Given the description of an element on the screen output the (x, y) to click on. 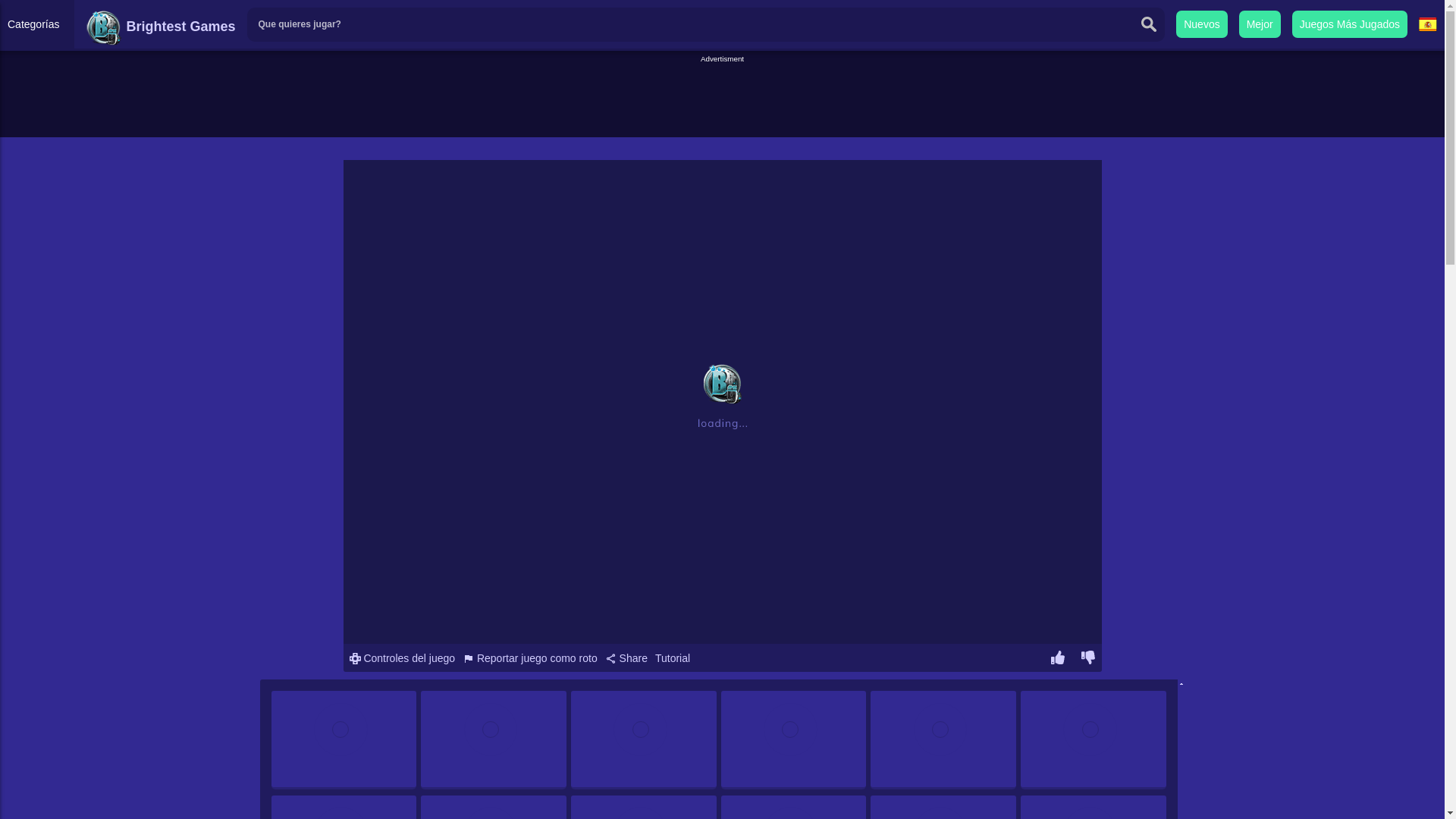
Play Free Online Games - BrightestGames.com (159, 26)
Brightest Games (159, 26)
Nuevos (1201, 23)
Mejor (1260, 23)
Nuevos (1201, 23)
Mejor (1260, 23)
